Given the description of an element on the screen output the (x, y) to click on. 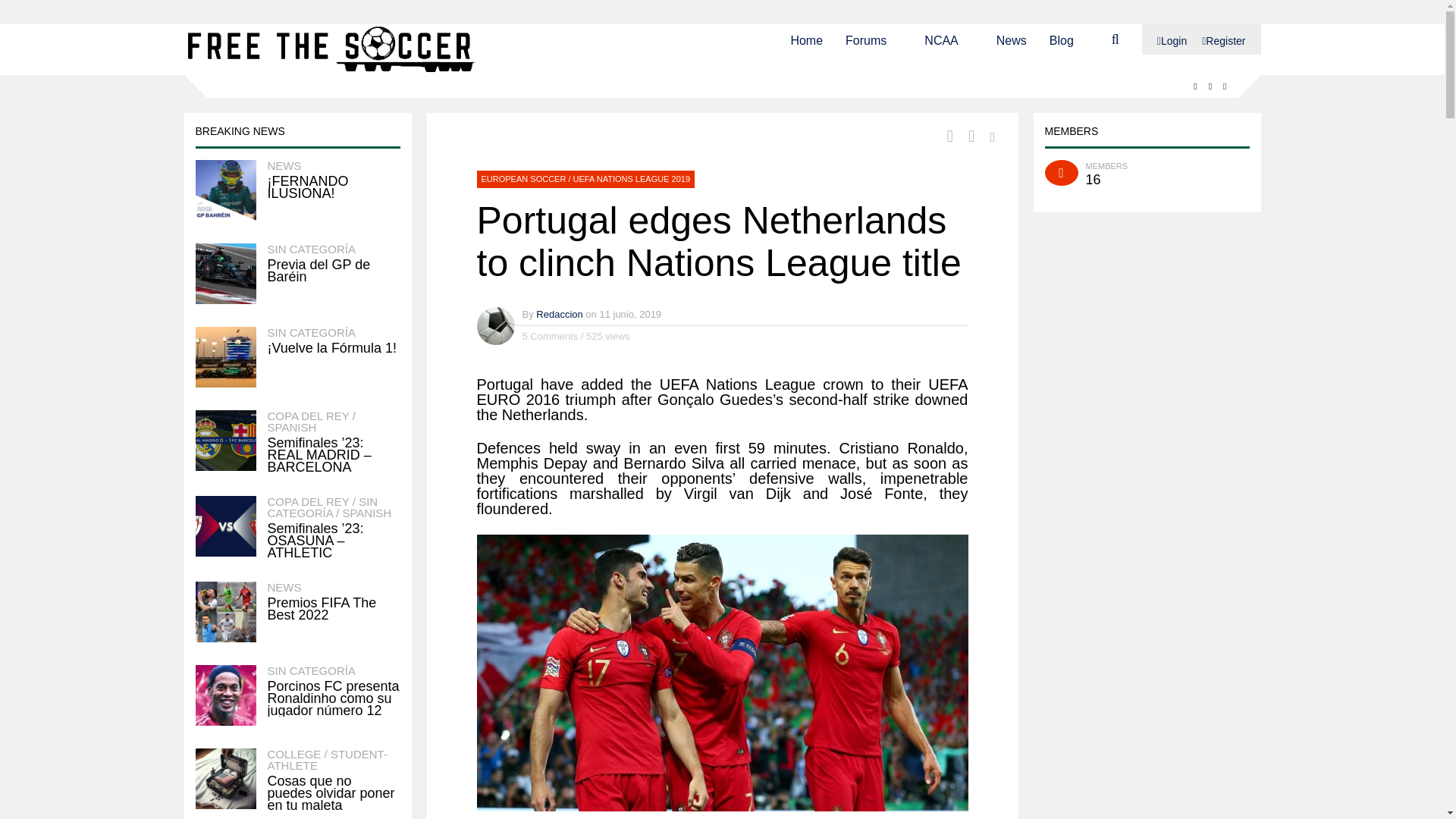
Home (806, 39)
News (1010, 39)
NCAA (941, 39)
free the soccer (333, 71)
Forums (865, 39)
